Given the description of an element on the screen output the (x, y) to click on. 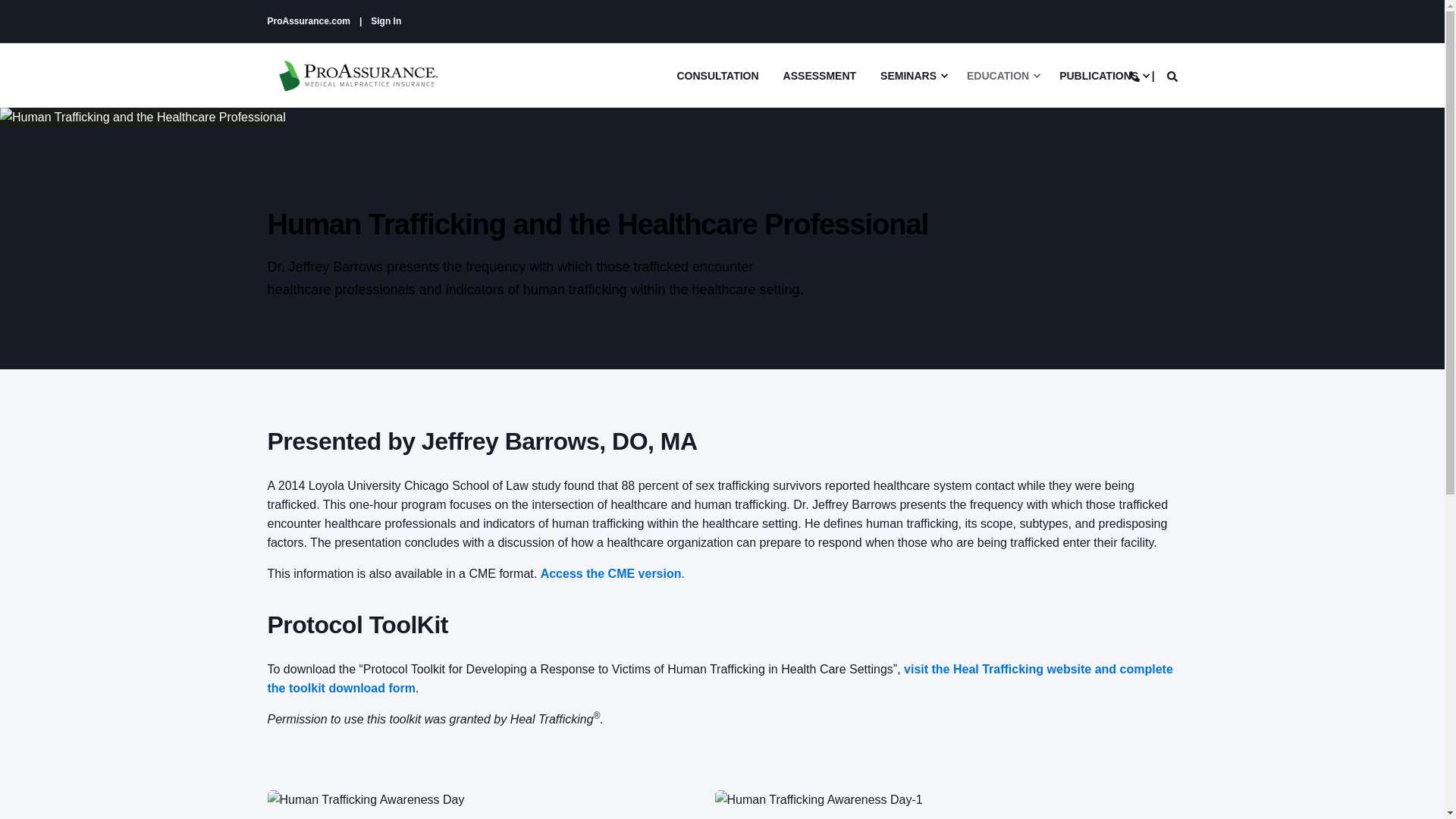
Sign In (386, 20)
ProAssurance.com (307, 20)
SEMINARS (911, 74)
EDUCATION (1000, 74)
CONSULTATION (723, 74)
ASSESSMENT (819, 74)
